Given the description of an element on the screen output the (x, y) to click on. 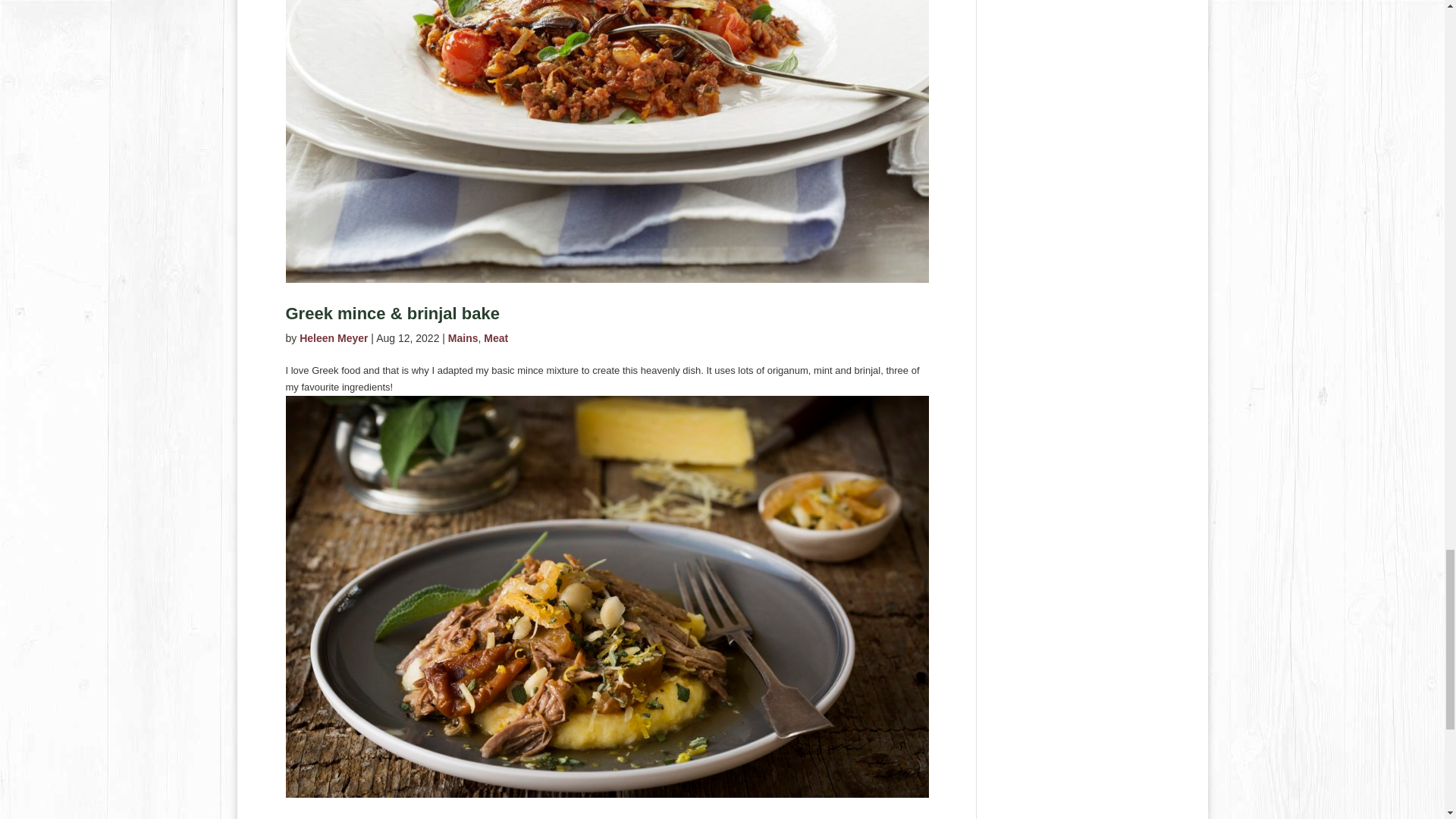
Posts by Heleen Meyer (333, 337)
